Given the description of an element on the screen output the (x, y) to click on. 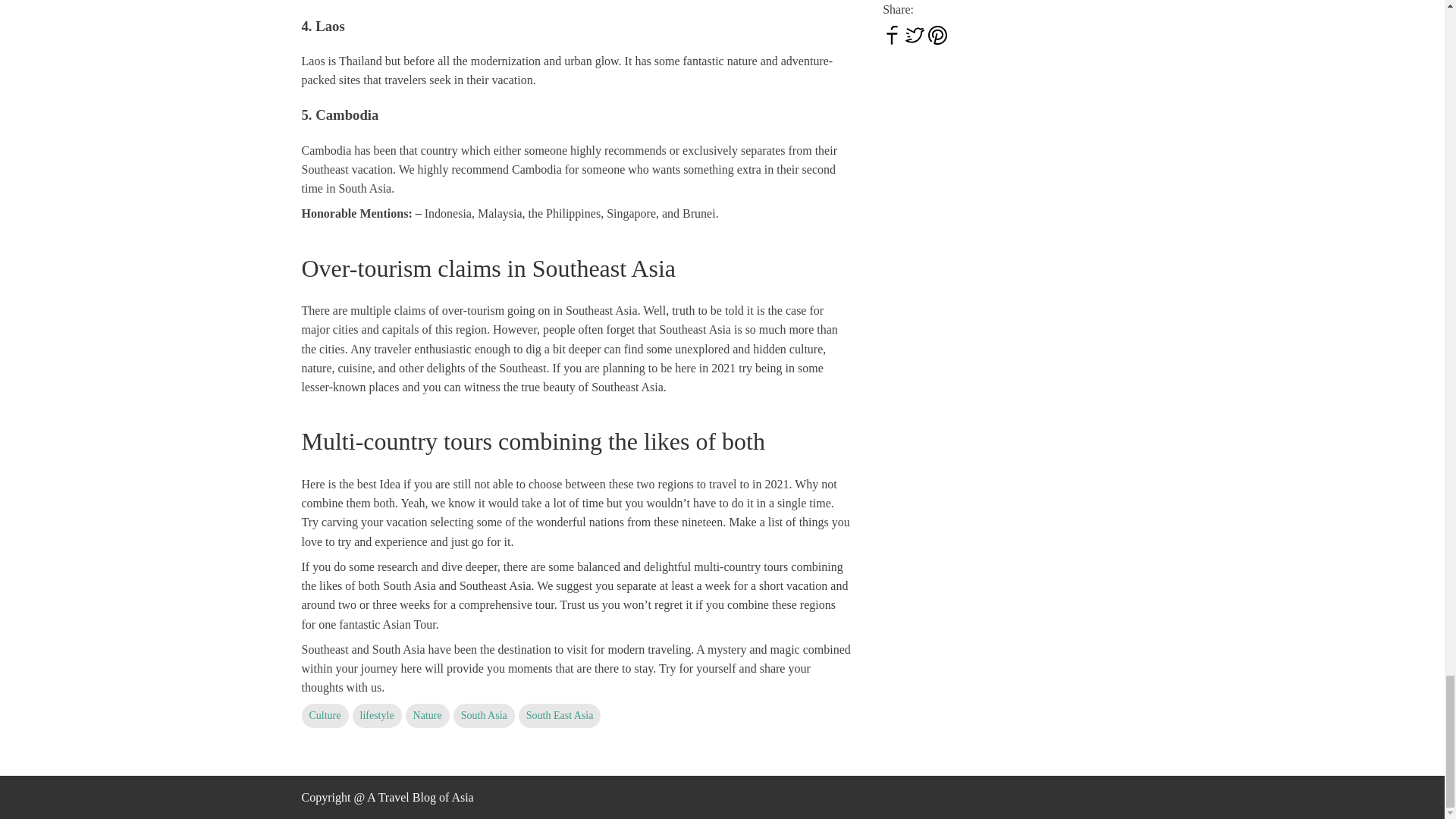
South East Asia Tag (559, 715)
Nature Tag (427, 715)
South Asia (483, 715)
Culture Tag (324, 715)
South East Asia (559, 715)
Culture (324, 715)
Nature (427, 715)
lifestyle (376, 715)
South Asia Tag (483, 715)
lifestyle Tag (376, 715)
